Given the description of an element on the screen output the (x, y) to click on. 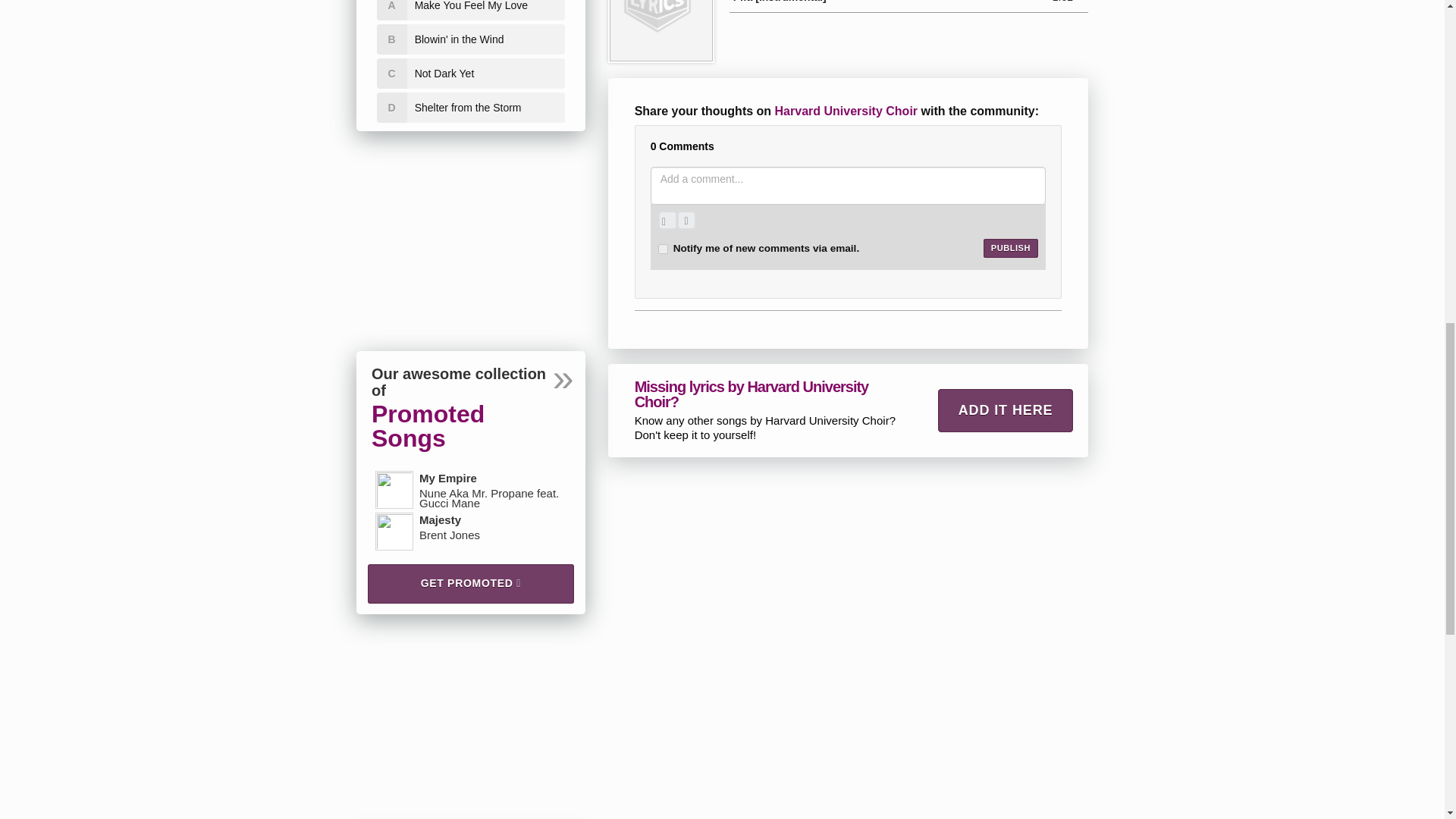
Record a sound (686, 220)
Christmas in the Busch (661, 30)
Brent Jones (394, 531)
Upload an image (667, 220)
Nune Aka Mr. Propane feat. Gucci Mane (394, 489)
on (663, 248)
